Given the description of an element on the screen output the (x, y) to click on. 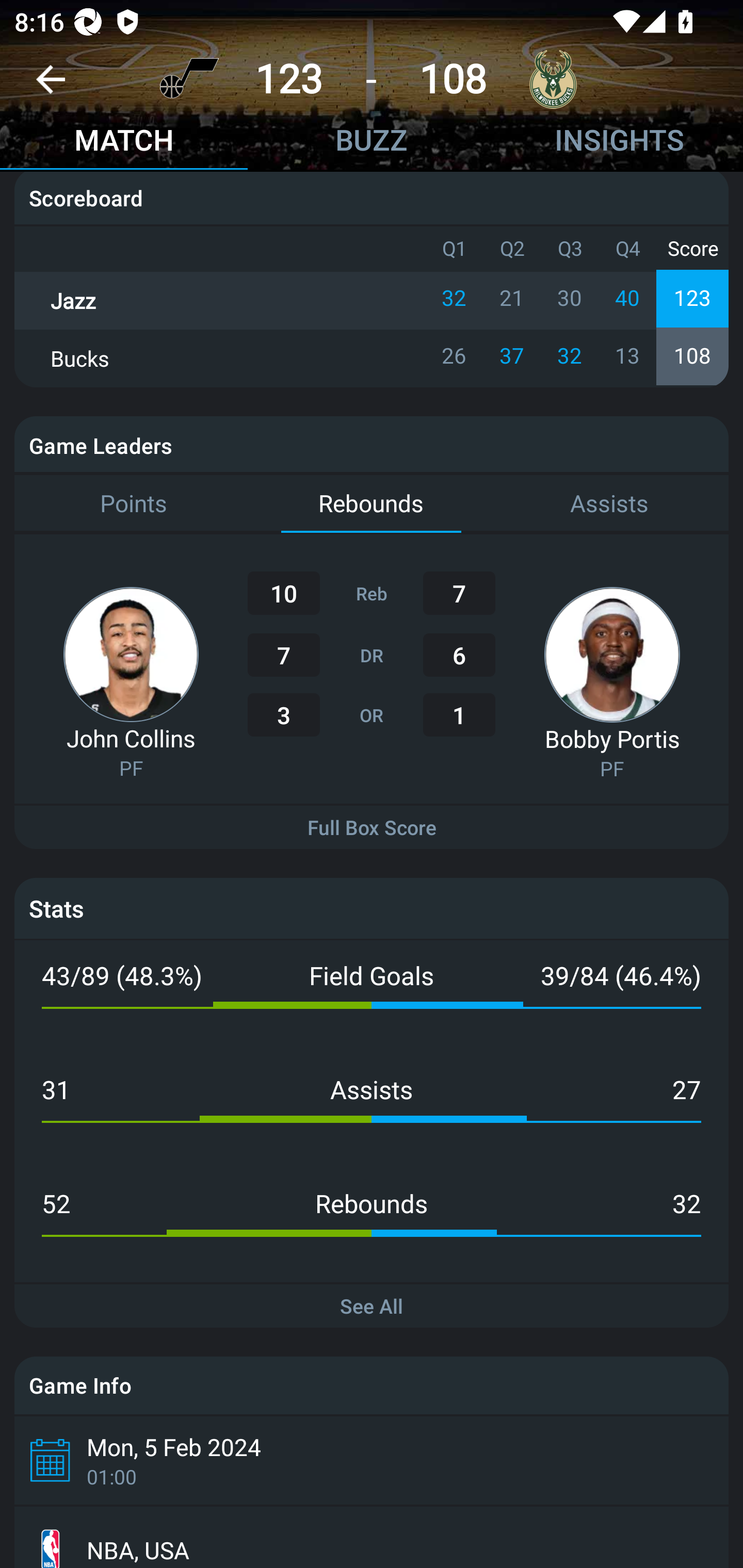
Navigate up (50, 86)
123 (288, 78)
108 (453, 78)
MATCH (123, 142)
BUZZ (371, 142)
INSIGHTS (619, 142)
Points (133, 504)
Assists (609, 504)
John Collins (131, 738)
Bobby Portis (611, 738)
Full Box Score (371, 826)
43/89 (48.3%) Field Goals 39/84 (46.4%) 48.0 46.0 (371, 996)
31 Assists 27 52.0 47.0 (371, 1110)
52 Rebounds 32 62.0 38.0 (371, 1225)
See All (371, 1306)
Game Info (371, 1385)
NBA, USA (371, 1537)
